Given the description of an element on the screen output the (x, y) to click on. 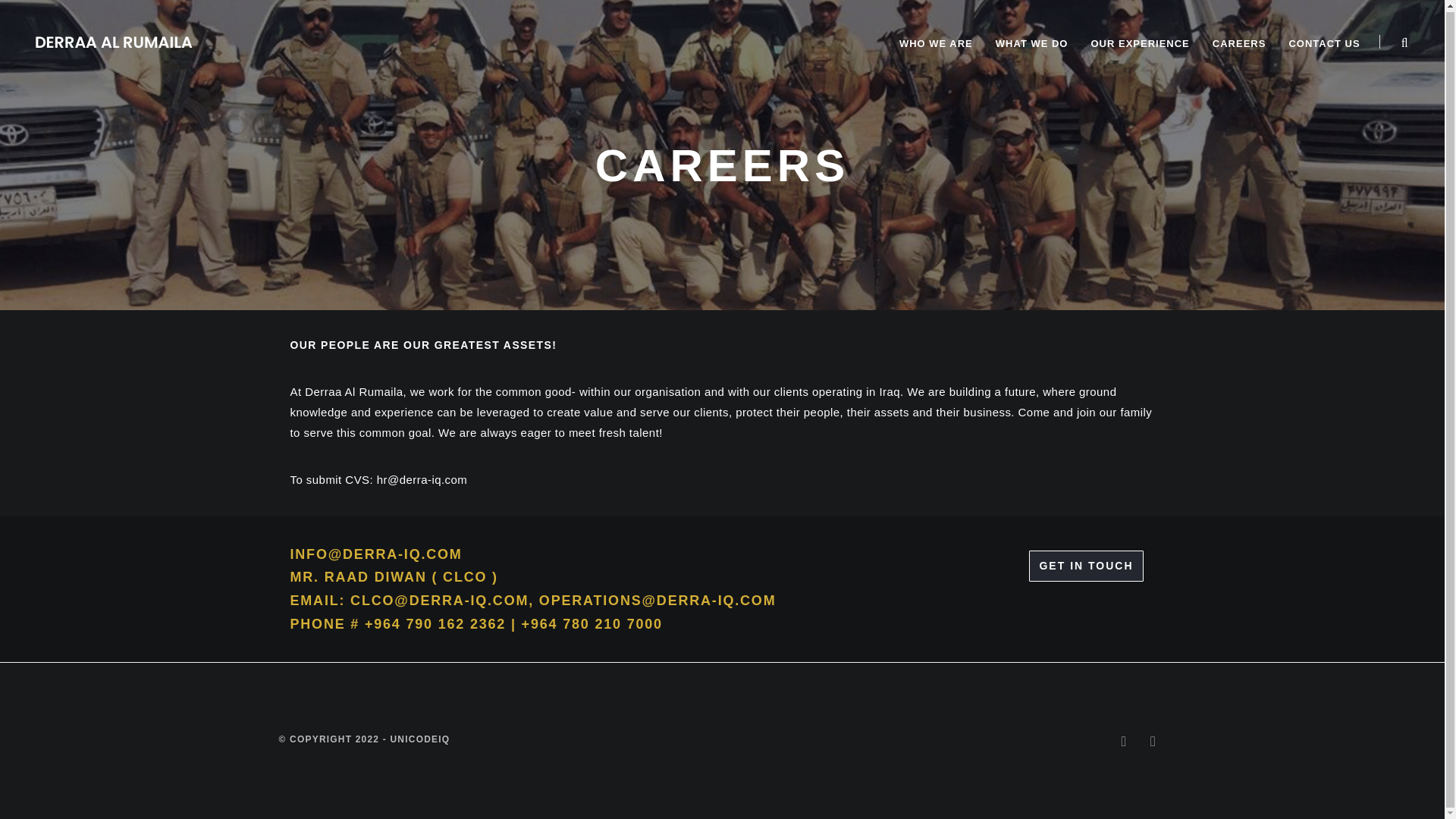
CONTACT US (1323, 43)
WHAT WE DO (1032, 43)
WHO WE ARE (936, 43)
OUR EXPERIENCE (1138, 43)
Derraa Al Rumaila (113, 39)
